Given the description of an element on the screen output the (x, y) to click on. 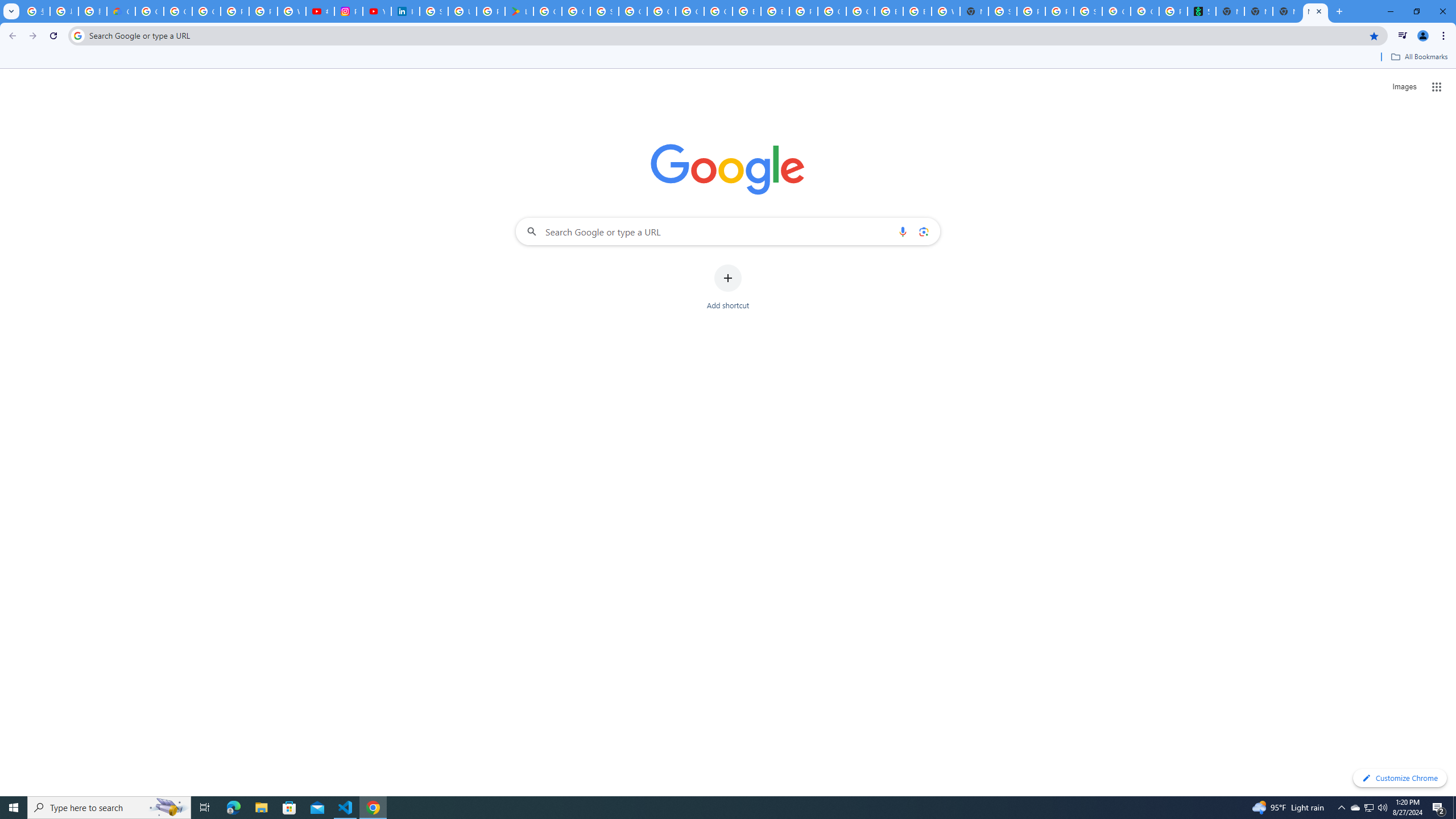
New Tab (1315, 11)
Google Cloud Platform (661, 11)
